Given the description of an element on the screen output the (x, y) to click on. 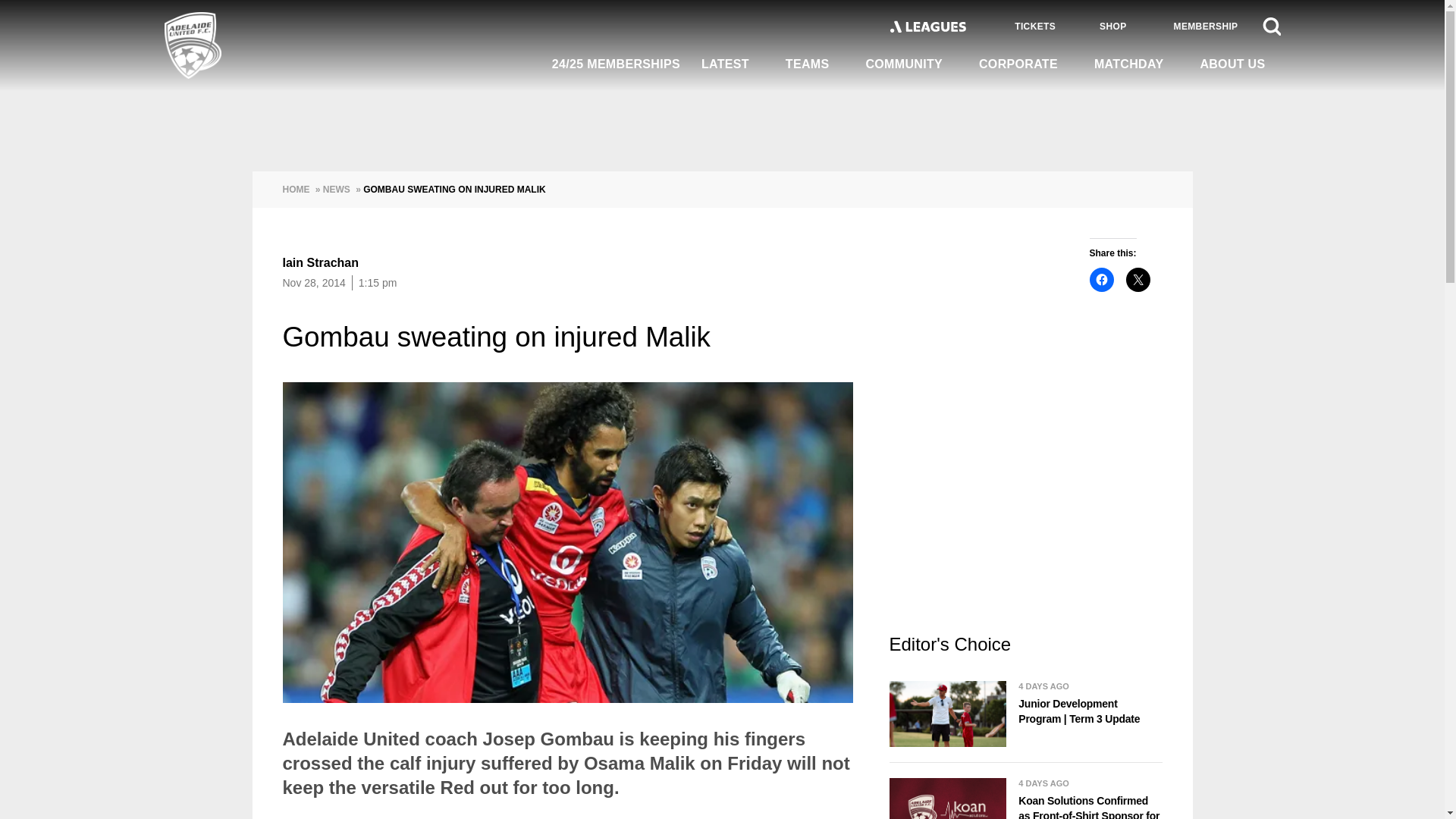
Click to share on X (1137, 279)
Click to share on Facebook (1101, 279)
CORPORATE (1025, 64)
COMMUNITY (911, 64)
TEAMS (815, 64)
LATEST (732, 64)
